Given the description of an element on the screen output the (x, y) to click on. 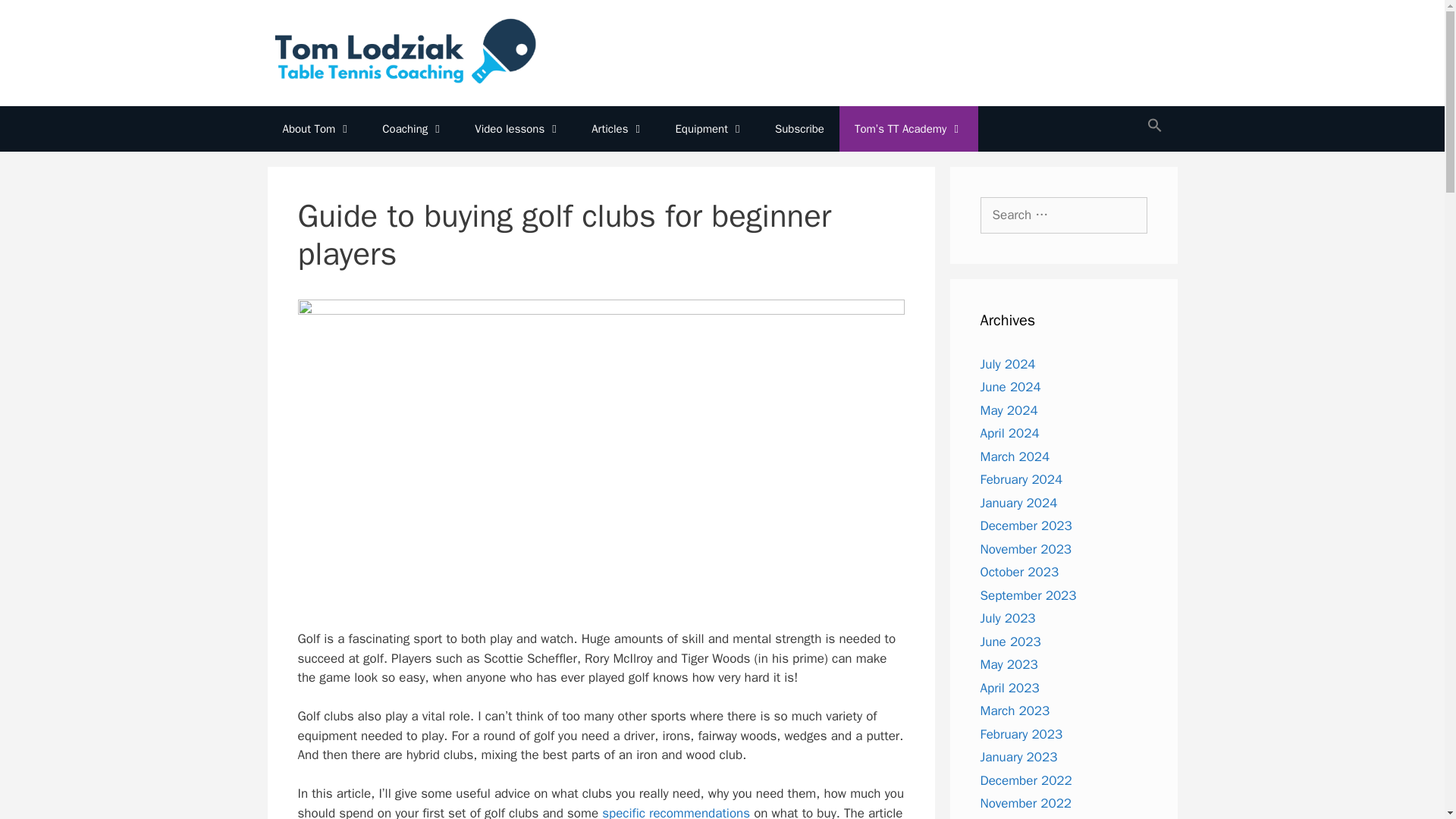
Search for: (1063, 215)
About Tom (316, 128)
Equipment (709, 128)
Subscribe (800, 128)
Video lessons (518, 128)
specific recommendations (675, 812)
Articles (617, 128)
Coaching (413, 128)
